Given the description of an element on the screen output the (x, y) to click on. 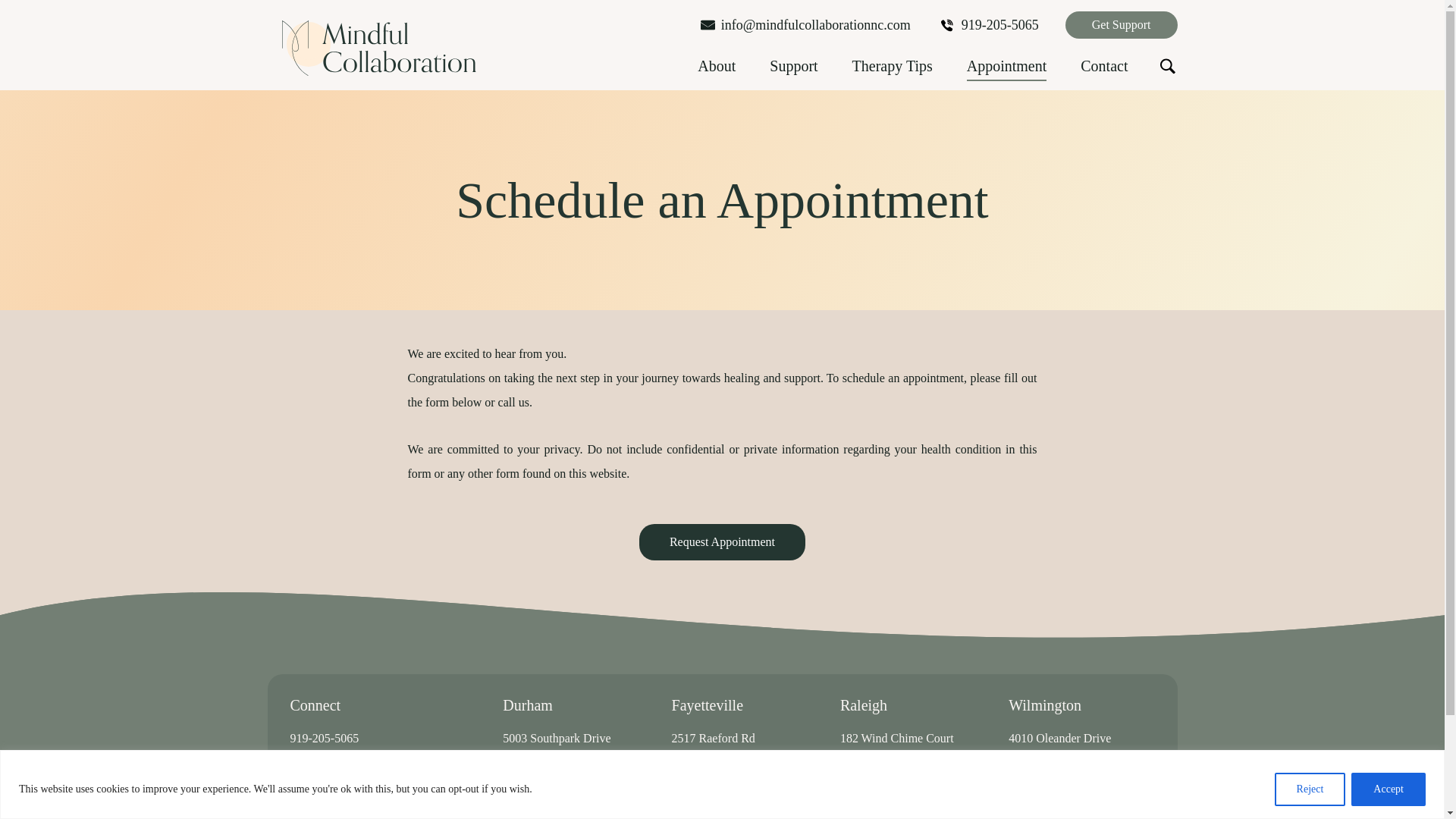
About (716, 72)
Therapy Tips (892, 72)
Accept (1388, 788)
919-205-5065 (989, 24)
Get Support (1121, 24)
Reject (1310, 788)
Appointment (1006, 72)
Contact (1103, 72)
Support (793, 72)
